Given the description of an element on the screen output the (x, y) to click on. 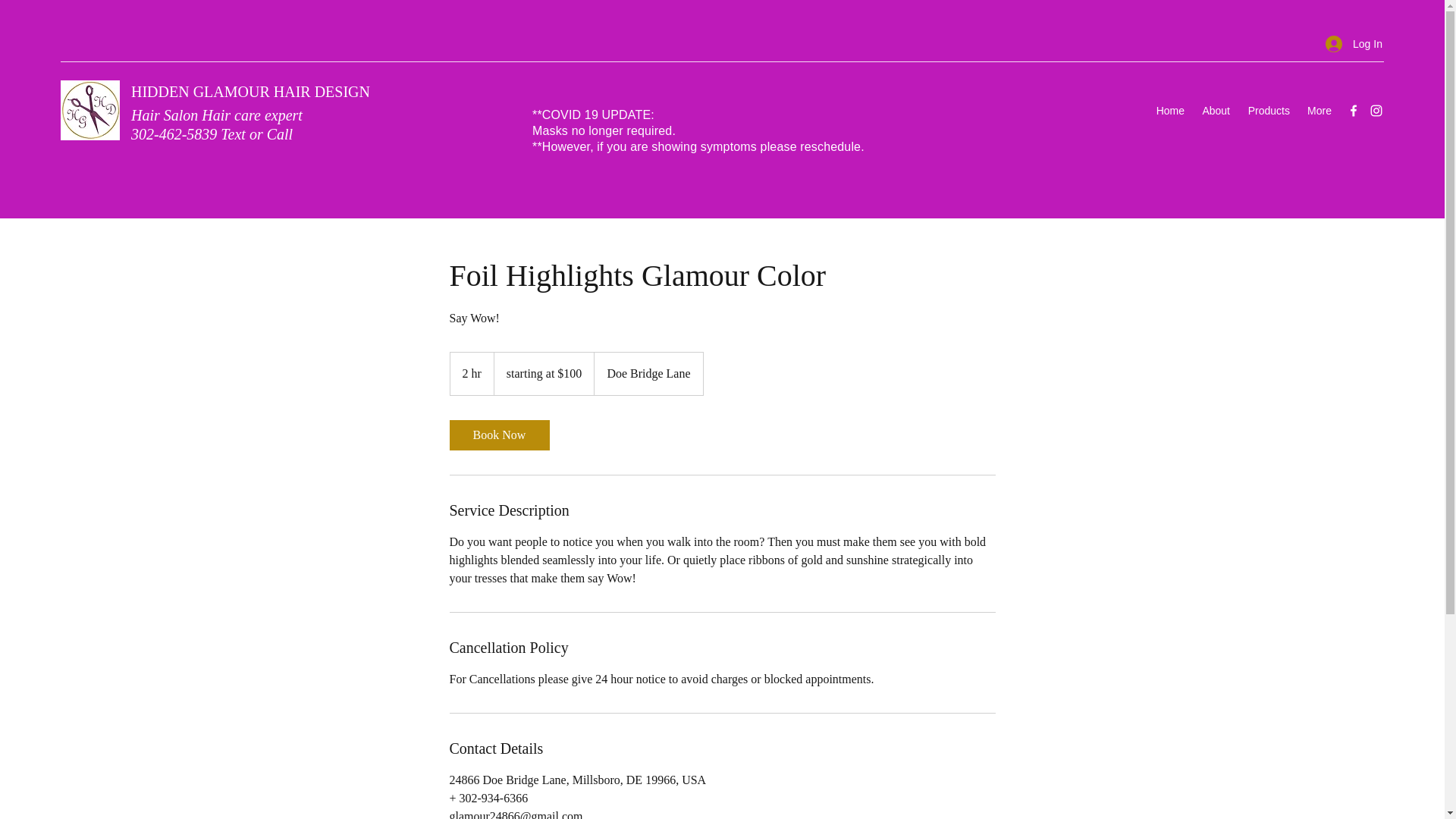
Book Now (498, 435)
Home (1169, 110)
About (1214, 110)
Log In (1348, 43)
Products (1267, 110)
